Given the description of an element on the screen output the (x, y) to click on. 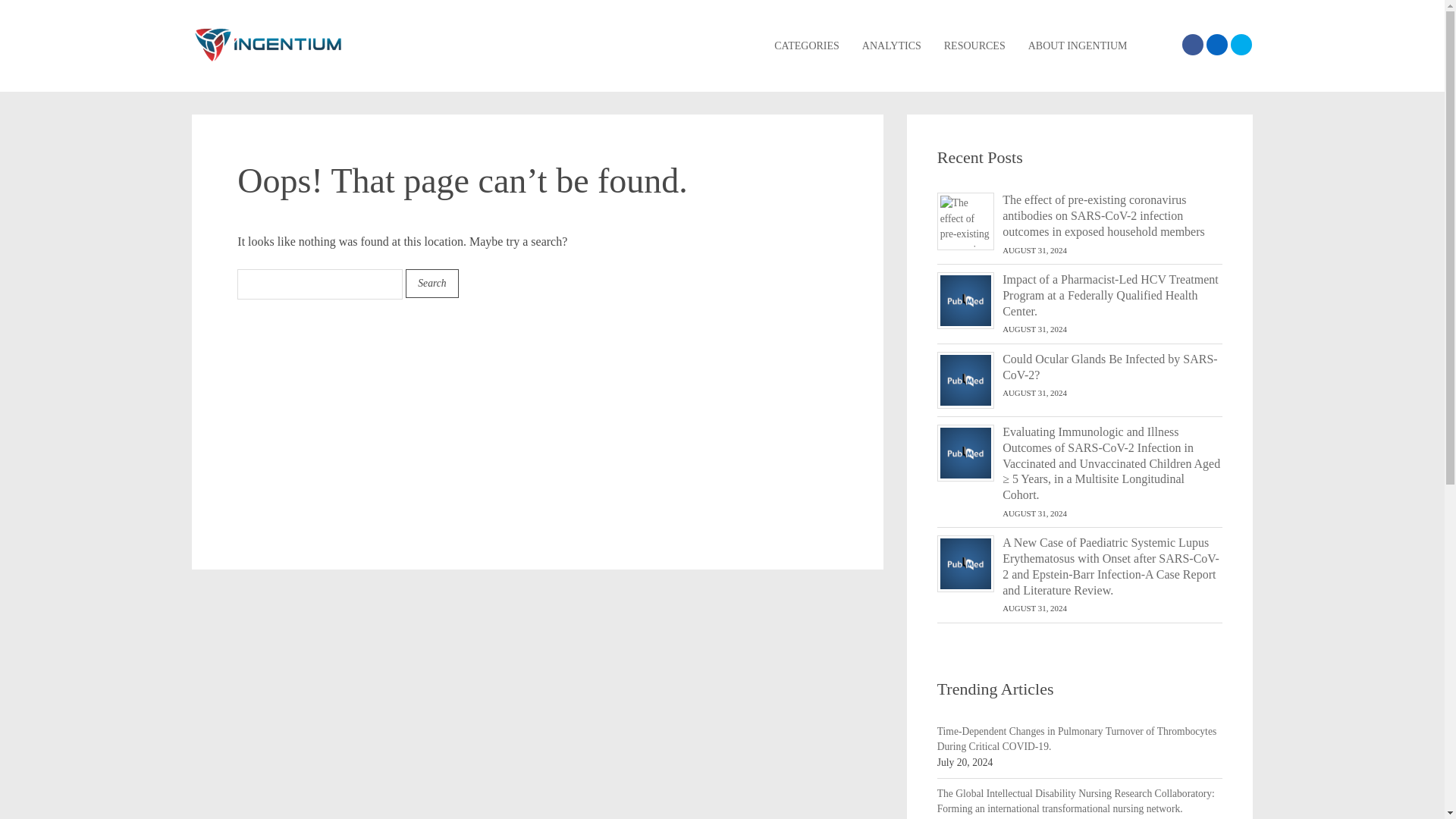
Search (432, 283)
Could Ocular Glands Be Infected by SARS-CoV-2? (1113, 368)
Search (1166, 45)
Linkedin (1216, 44)
